Given the description of an element on the screen output the (x, y) to click on. 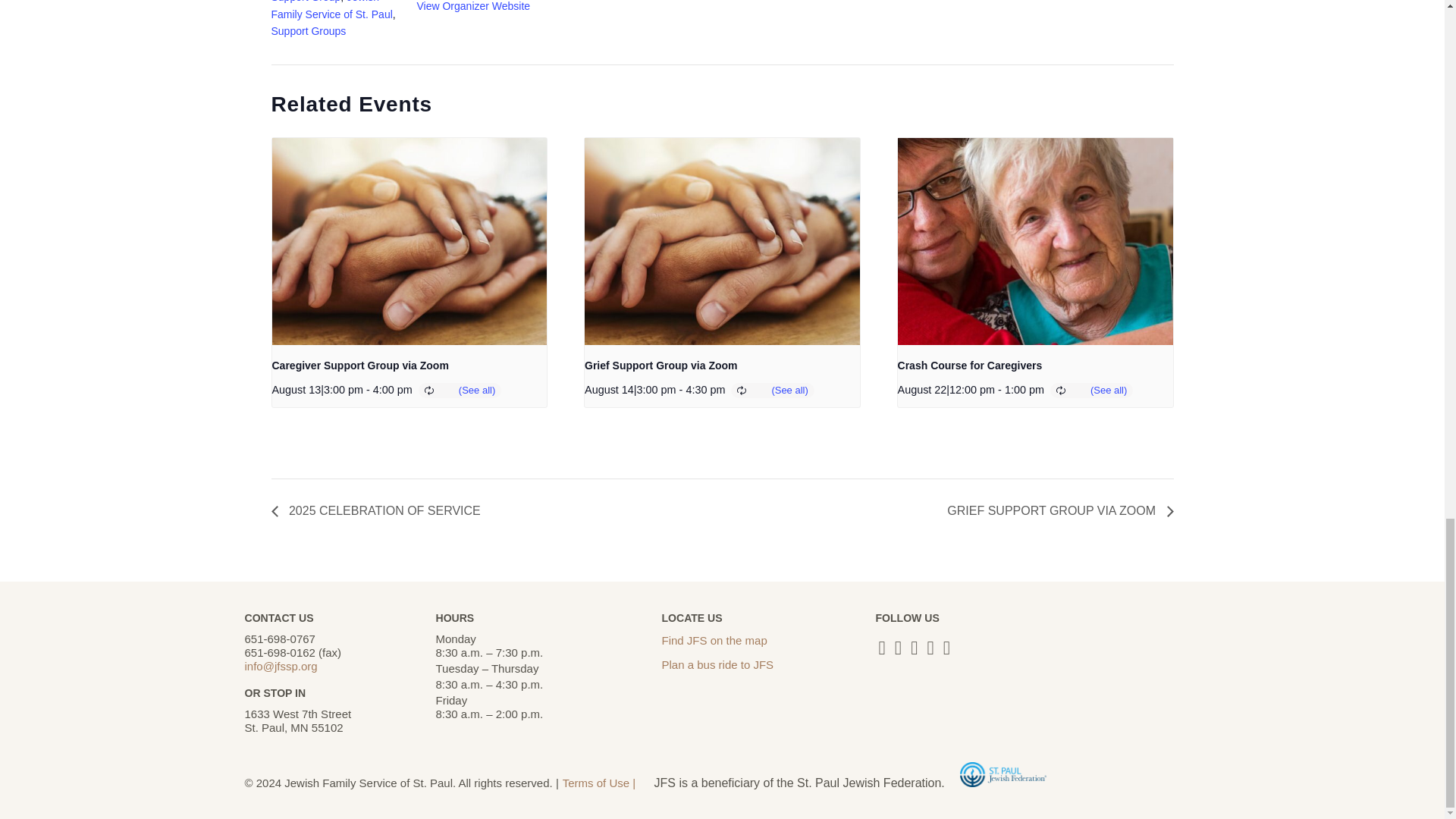
Jewish Family Service of St. Paul (331, 9)
Support Groups (308, 30)
Caregivers Support Group (325, 1)
